Given the description of an element on the screen output the (x, y) to click on. 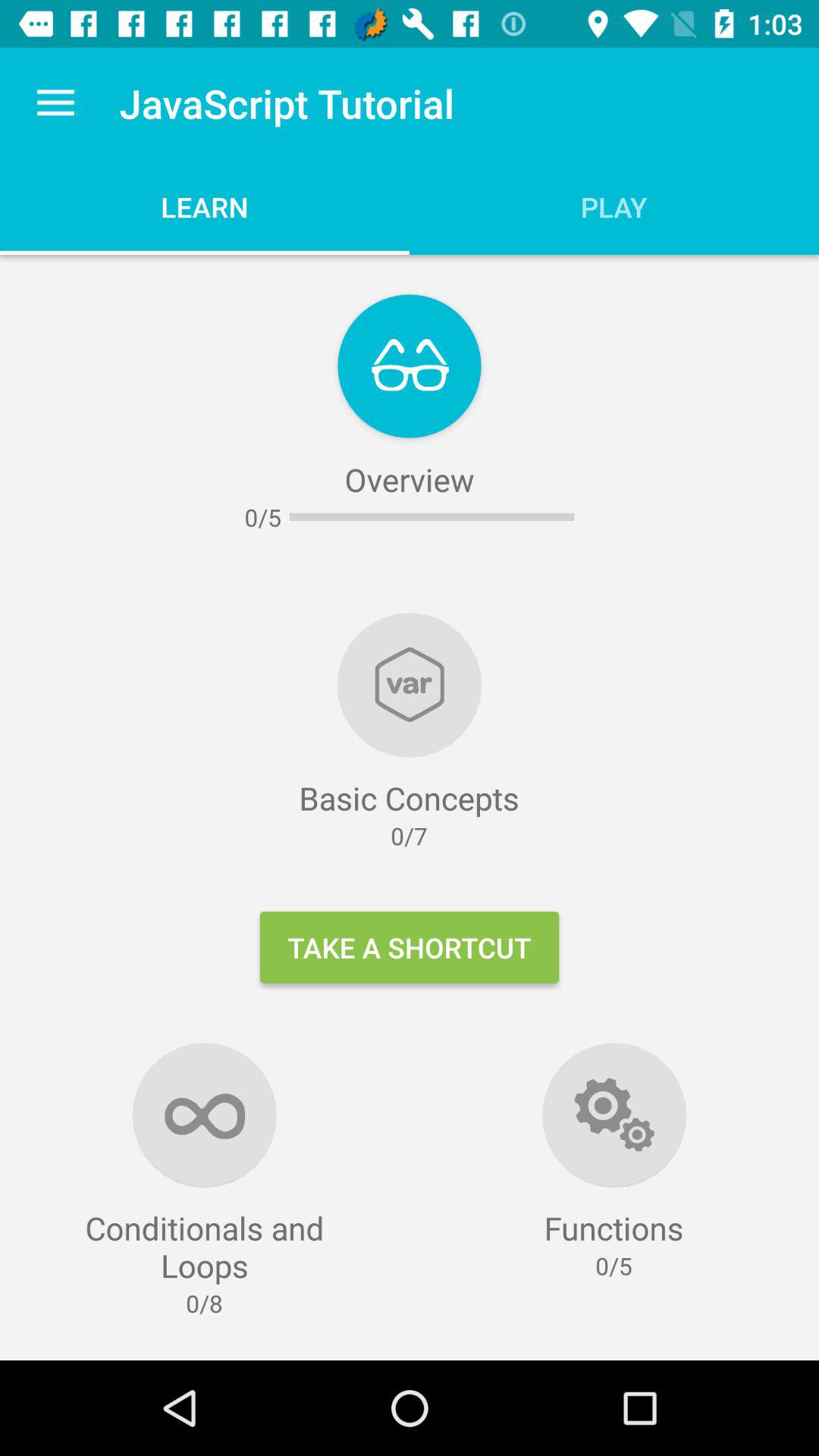
turn off icon above the conditionals and loops item (55, 103)
